Given the description of an element on the screen output the (x, y) to click on. 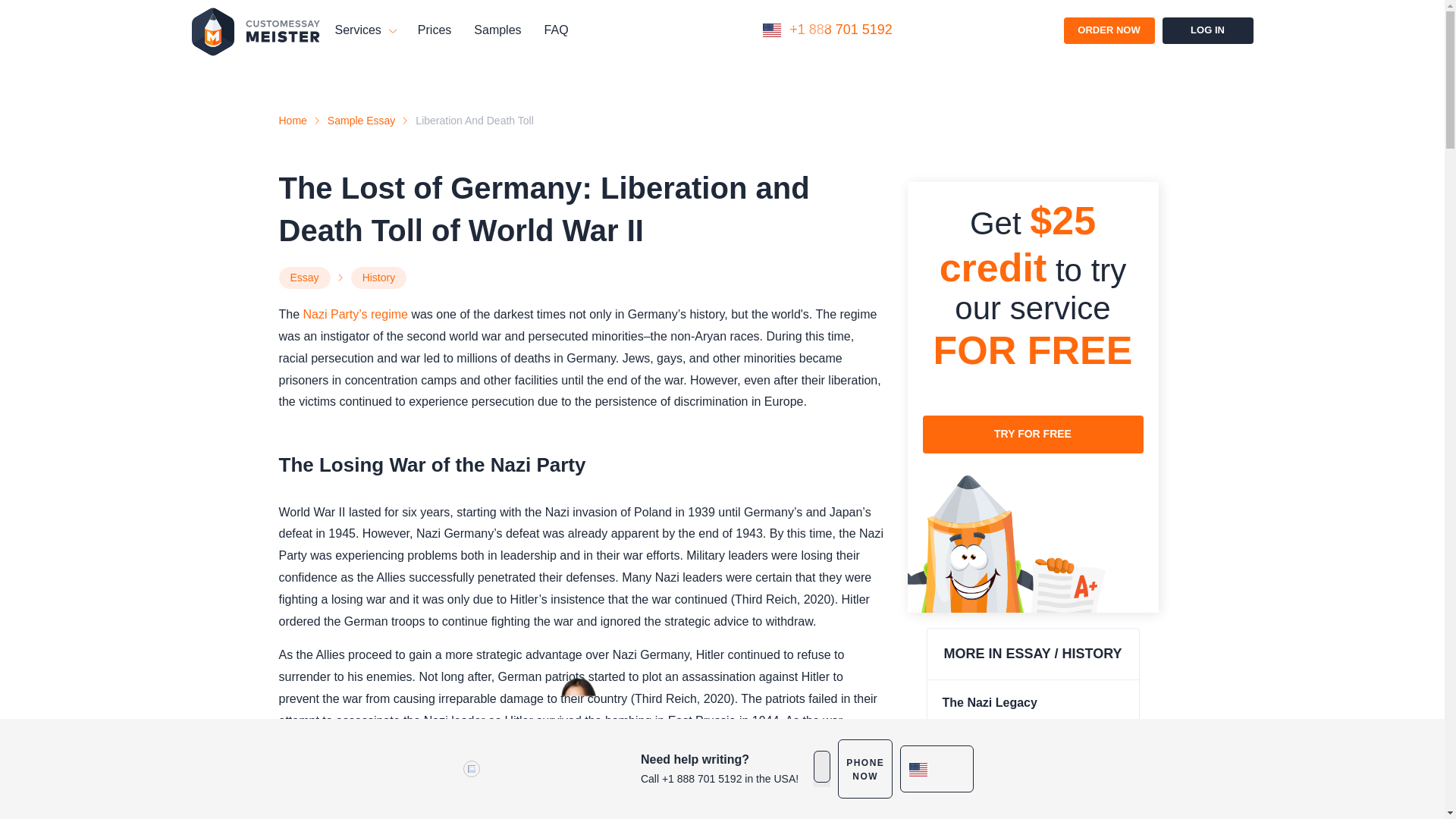
Samples (497, 30)
ORDER NOW (1108, 29)
Home (293, 120)
Prices (434, 30)
FAQ (556, 30)
LOG IN (1206, 29)
